Given the description of an element on the screen output the (x, y) to click on. 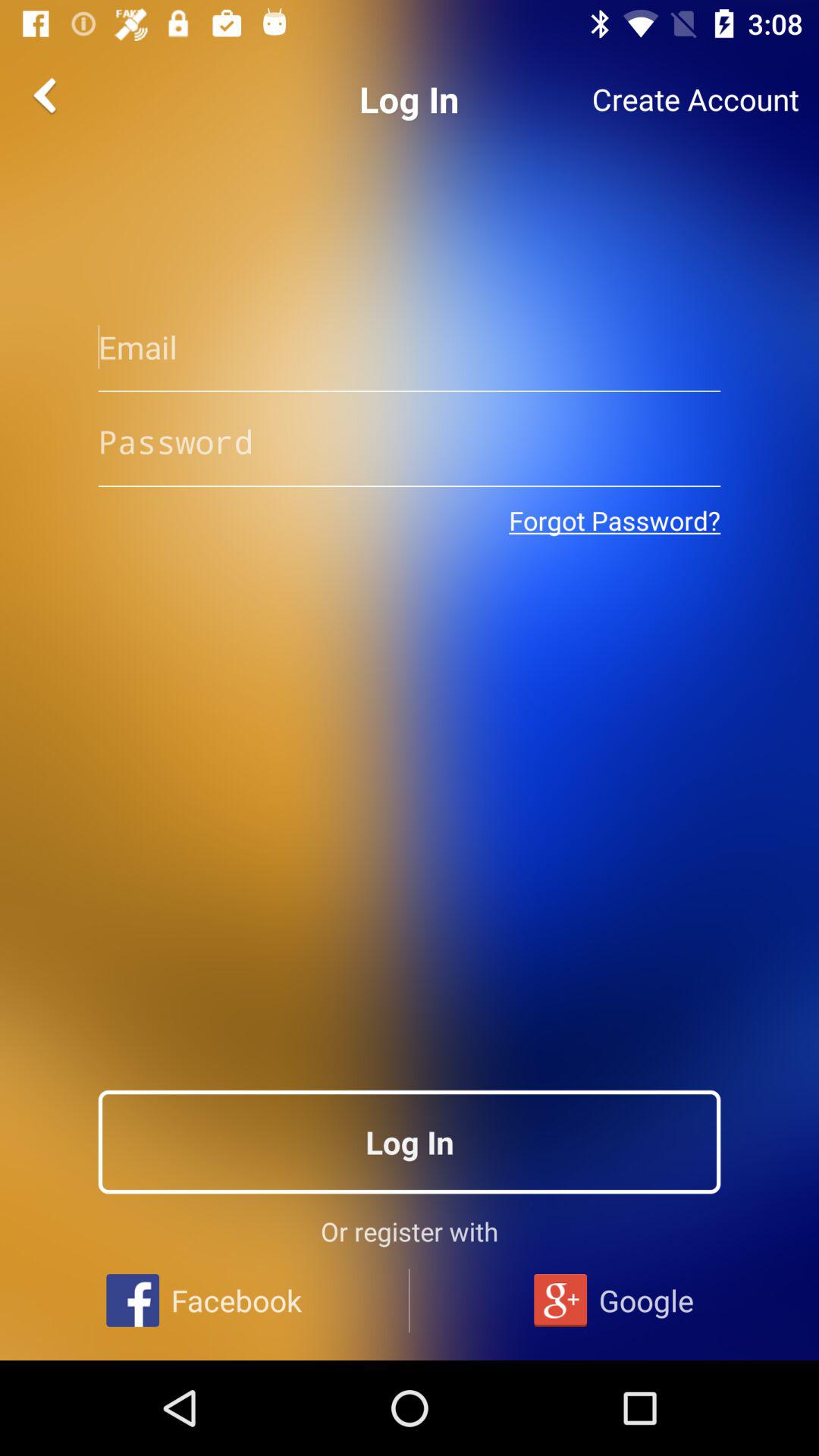
launch the app next to log in item (695, 99)
